Given the description of an element on the screen output the (x, y) to click on. 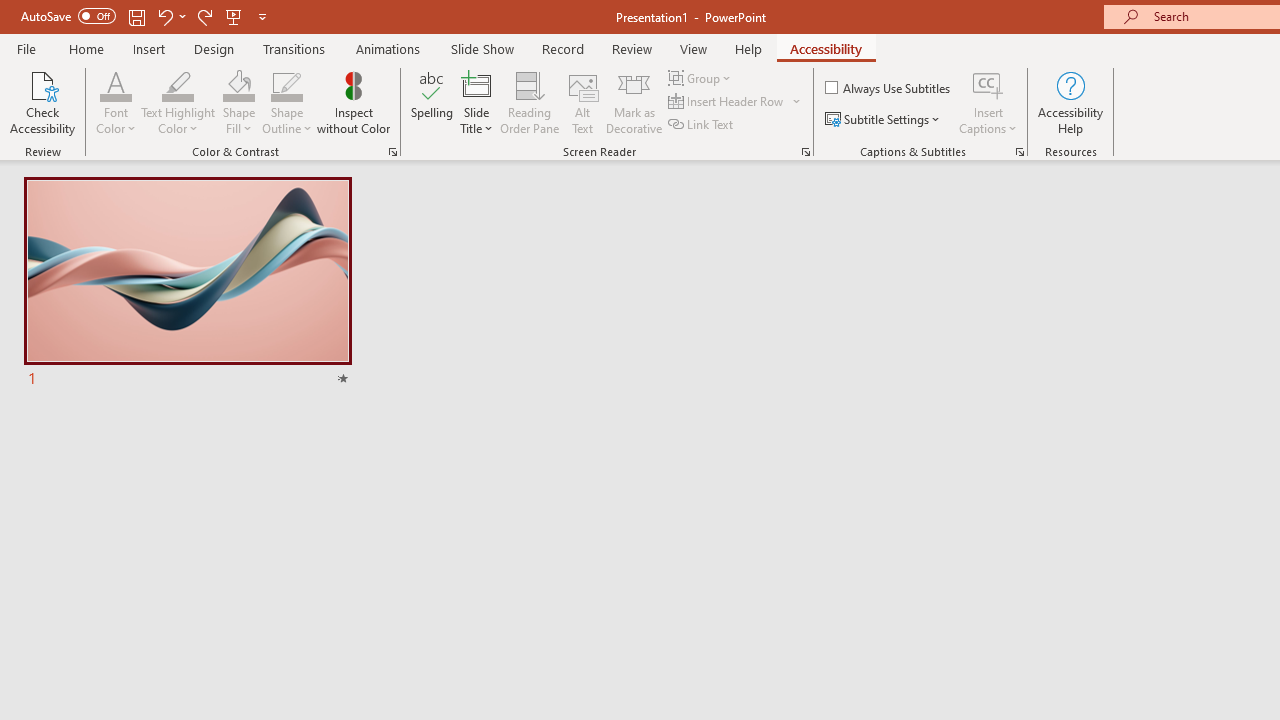
Inspect without Color (353, 102)
Always Use Subtitles (889, 87)
Slide Title (476, 102)
